Given the description of an element on the screen output the (x, y) to click on. 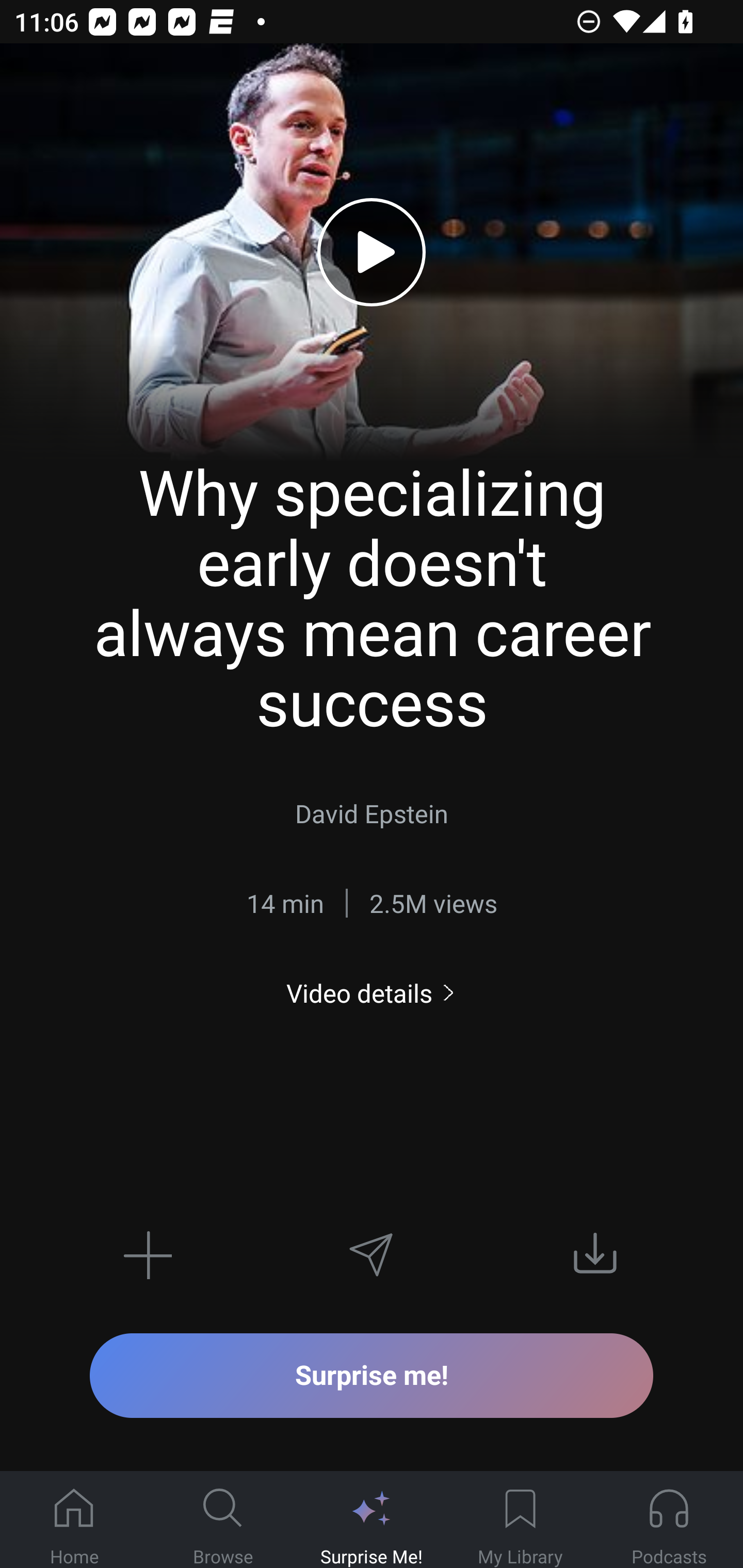
Video details (371, 993)
Surprise me! (371, 1374)
Home (74, 1520)
Browse (222, 1520)
Surprise Me! (371, 1520)
My Library (519, 1520)
Podcasts (668, 1520)
